Given the description of an element on the screen output the (x, y) to click on. 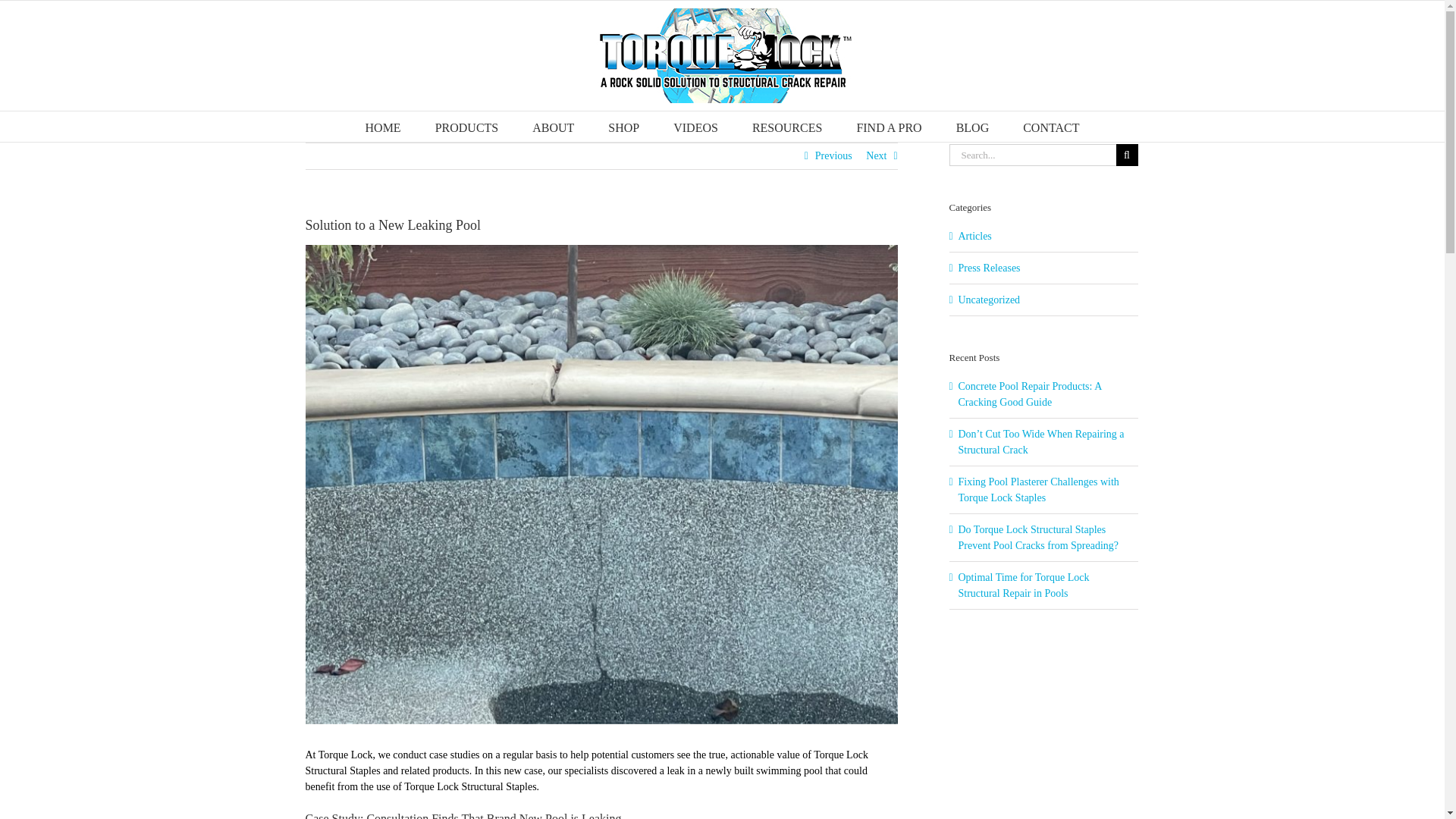
FIND A PRO (888, 126)
BLOG (973, 126)
RESOURCES (787, 126)
Previous (833, 155)
CONTACT (1050, 126)
VIDEOS (694, 126)
PRODUCTS (467, 126)
HOME (383, 126)
